Given the description of an element on the screen output the (x, y) to click on. 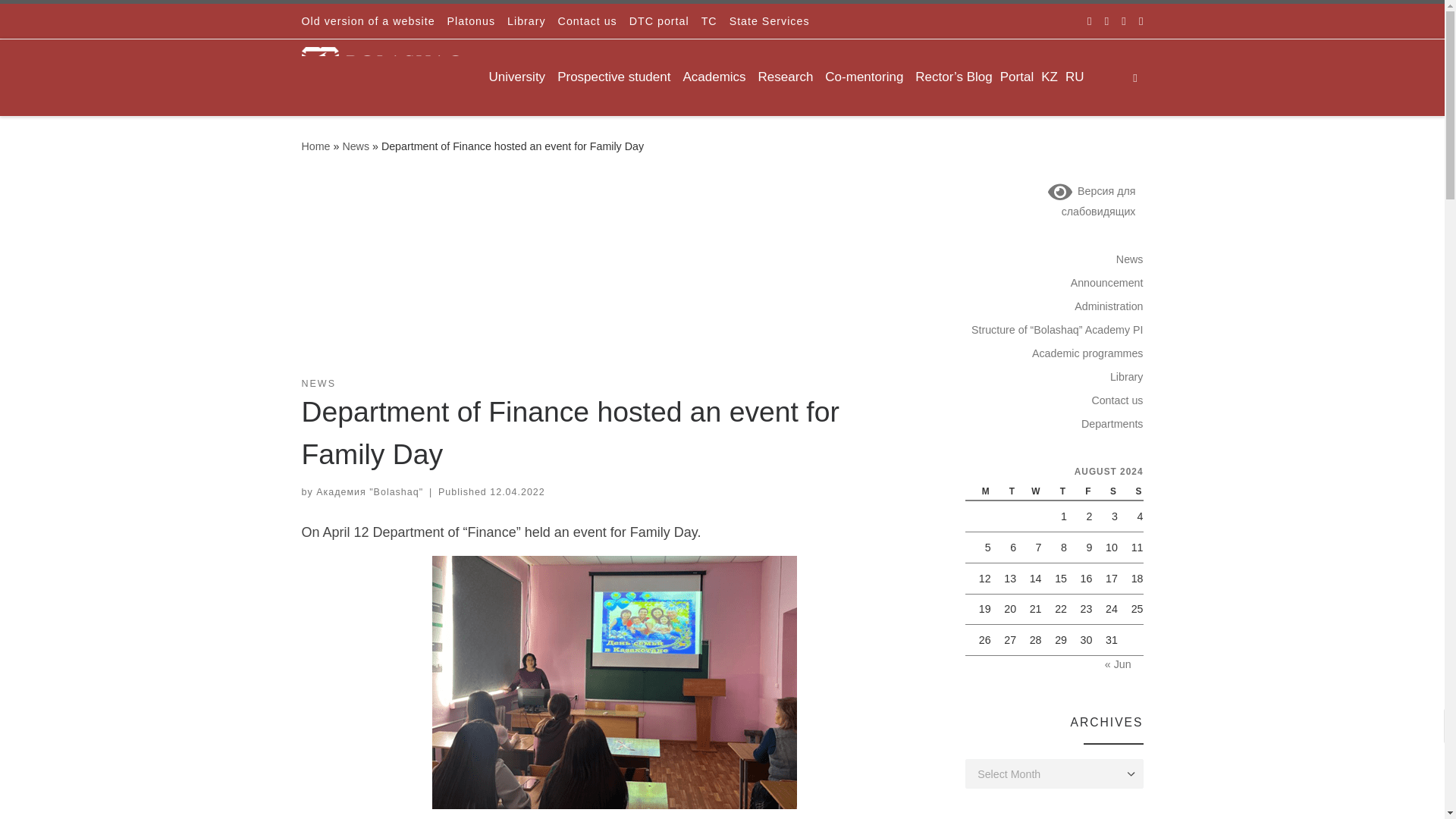
16:25 (516, 491)
Platonus (470, 21)
DTC portal (659, 21)
Old version of a website (368, 21)
View all posts in News (318, 383)
Library (525, 21)
Prospective student (615, 77)
Contact us (587, 21)
News (355, 146)
Skip to content (60, 20)
